Given the description of an element on the screen output the (x, y) to click on. 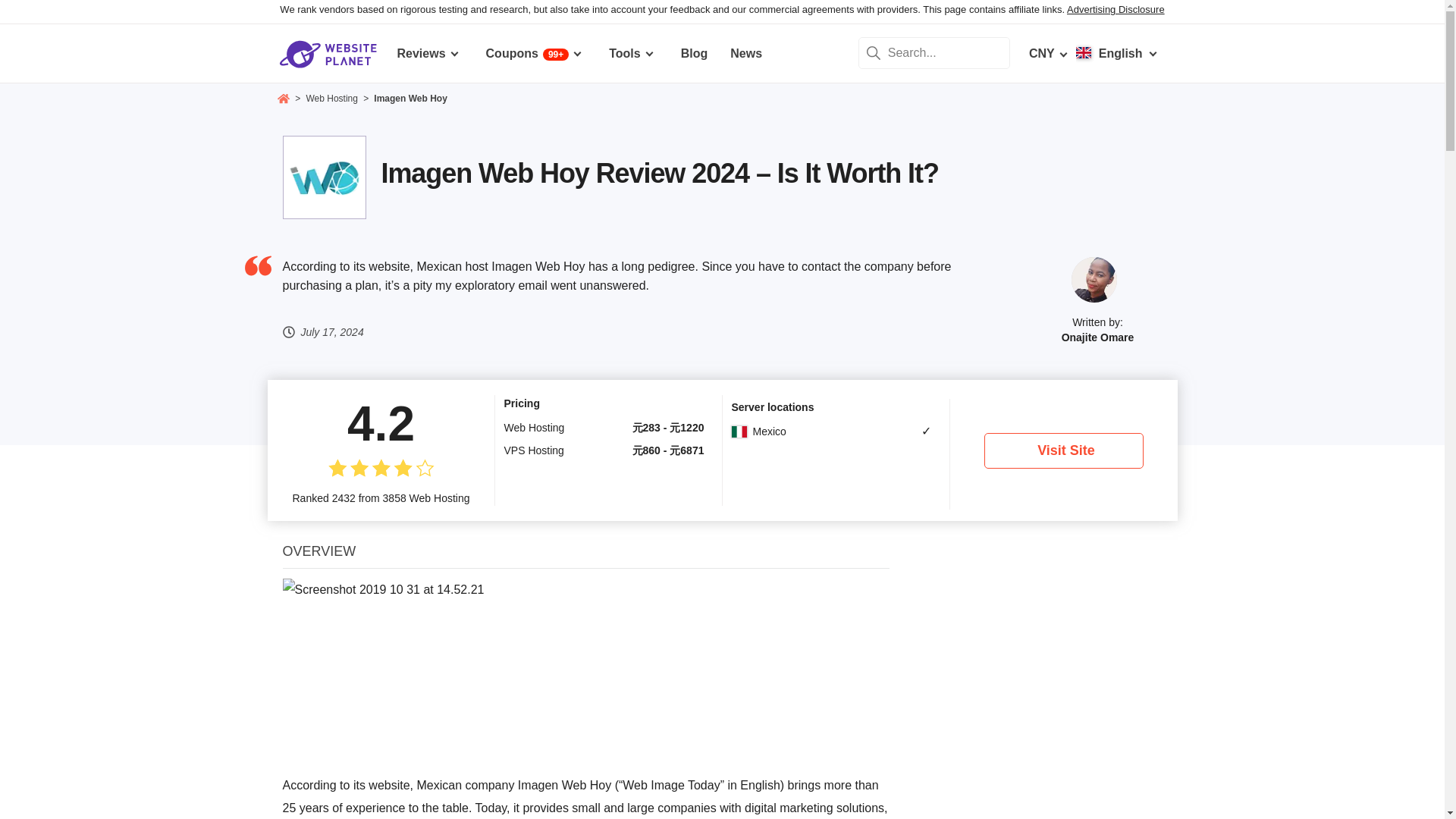
Search (873, 52)
Search (873, 52)
Advertising Disclosure (1115, 9)
